Given the description of an element on the screen output the (x, y) to click on. 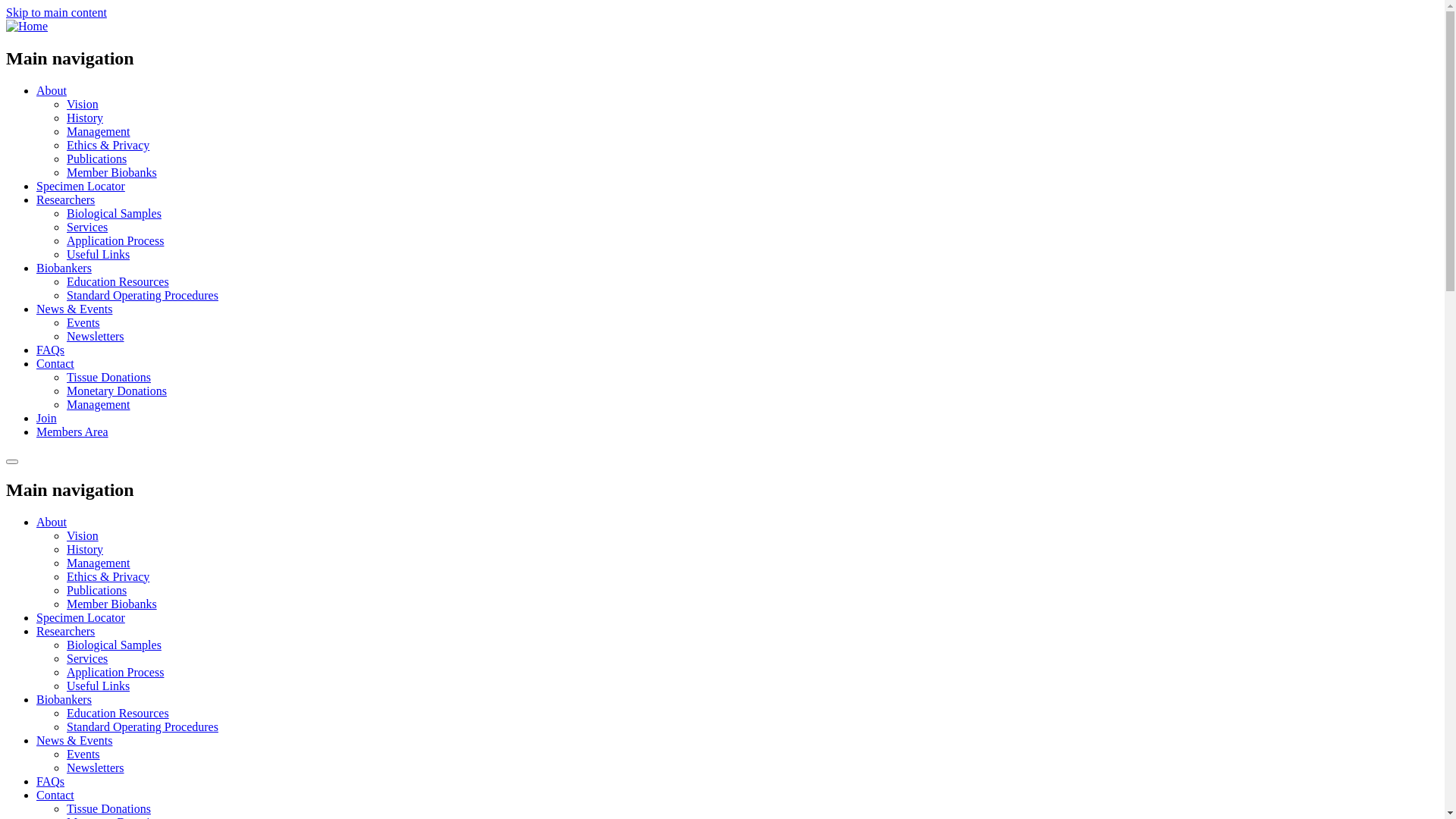
Specimen Locator Element type: text (80, 617)
Newsletters Element type: text (95, 335)
Researchers Element type: text (65, 199)
Vision Element type: text (82, 535)
Newsletters Element type: text (95, 767)
Events Element type: text (83, 753)
Management Element type: text (98, 562)
Standard Operating Procedures Element type: text (142, 294)
News & Events Element type: text (74, 740)
Biobankers Element type: text (63, 267)
Member Biobanks Element type: text (111, 172)
Member Biobanks Element type: text (111, 603)
Contact Element type: text (55, 794)
Specimen Locator Element type: text (80, 185)
Tissue Donations Element type: text (108, 376)
Useful Links Element type: text (97, 685)
Publications Element type: text (96, 158)
Skip to main content Element type: text (56, 12)
Biological Samples Element type: text (113, 644)
Education Resources Element type: text (117, 712)
About Element type: text (51, 521)
Services Element type: text (86, 658)
FAQs Element type: text (50, 781)
Contact Element type: text (55, 363)
History Element type: text (84, 548)
Monetary Donations Element type: text (116, 390)
Join Element type: text (46, 417)
Management Element type: text (98, 404)
Useful Links Element type: text (97, 253)
Education Resources Element type: text (117, 281)
Events Element type: text (83, 322)
Biological Samples Element type: text (113, 213)
Tissue Donations Element type: text (108, 808)
Members Area Element type: text (72, 431)
News & Events Element type: text (74, 308)
Services Element type: text (86, 226)
Publications Element type: text (96, 589)
Ethics & Privacy Element type: text (107, 576)
History Element type: text (84, 117)
Management Element type: text (98, 131)
Biobankers Element type: text (63, 699)
Home Element type: hover (26, 25)
Researchers Element type: text (65, 630)
Application Process Element type: text (114, 240)
FAQs Element type: text (50, 349)
About Element type: text (51, 90)
Ethics & Privacy Element type: text (107, 144)
Application Process Element type: text (114, 671)
Standard Operating Procedures Element type: text (142, 726)
Vision Element type: text (82, 103)
